Given the description of an element on the screen output the (x, y) to click on. 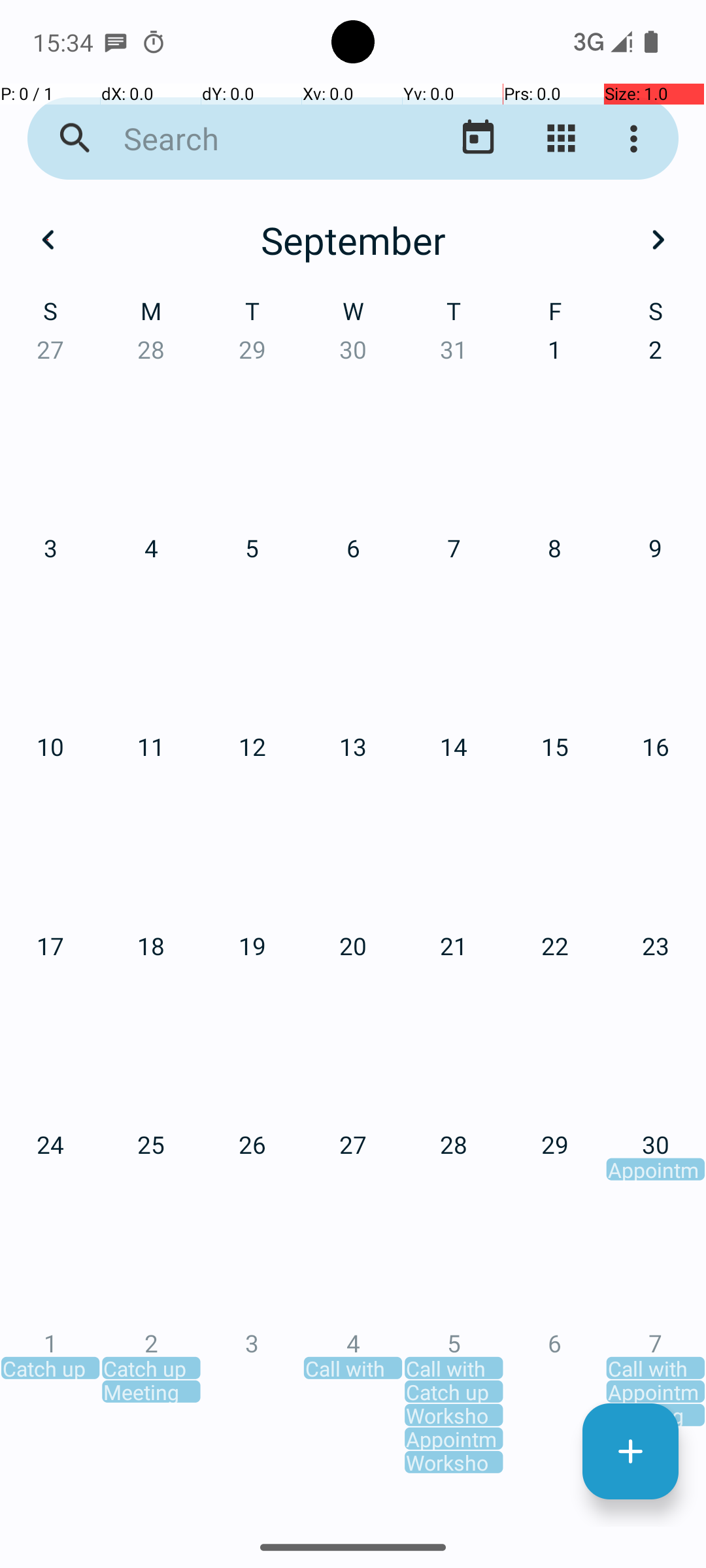
September Element type: android.widget.TextView (352, 239)
